Given the description of an element on the screen output the (x, y) to click on. 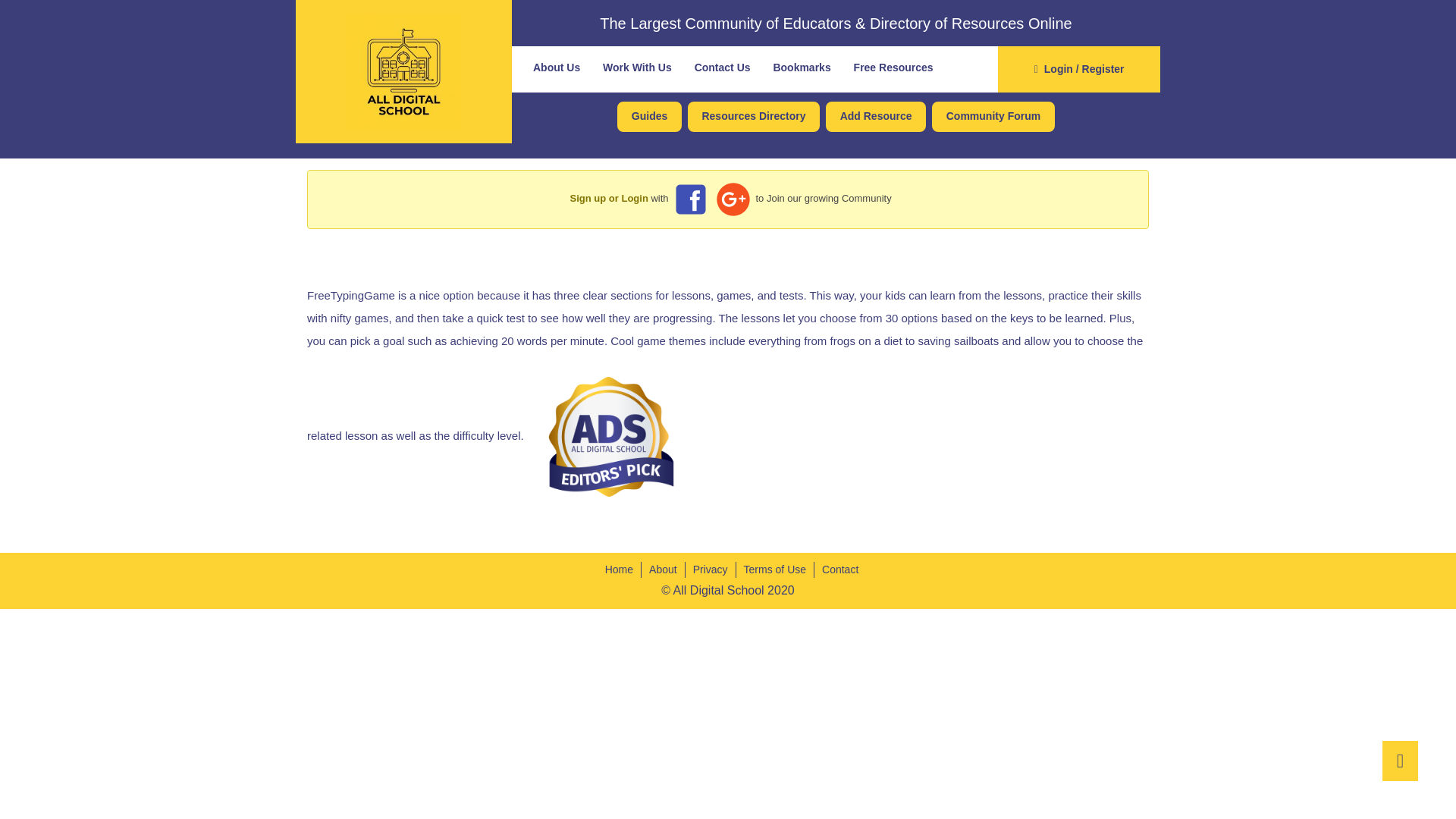
About Us (556, 67)
Sign up or Login (608, 197)
Home (619, 569)
Terms of Use (774, 569)
Guides (648, 116)
About (663, 569)
Resources Directory (753, 116)
Contact (836, 569)
Free Resources (893, 67)
Bookmarks (801, 67)
